Given the description of an element on the screen output the (x, y) to click on. 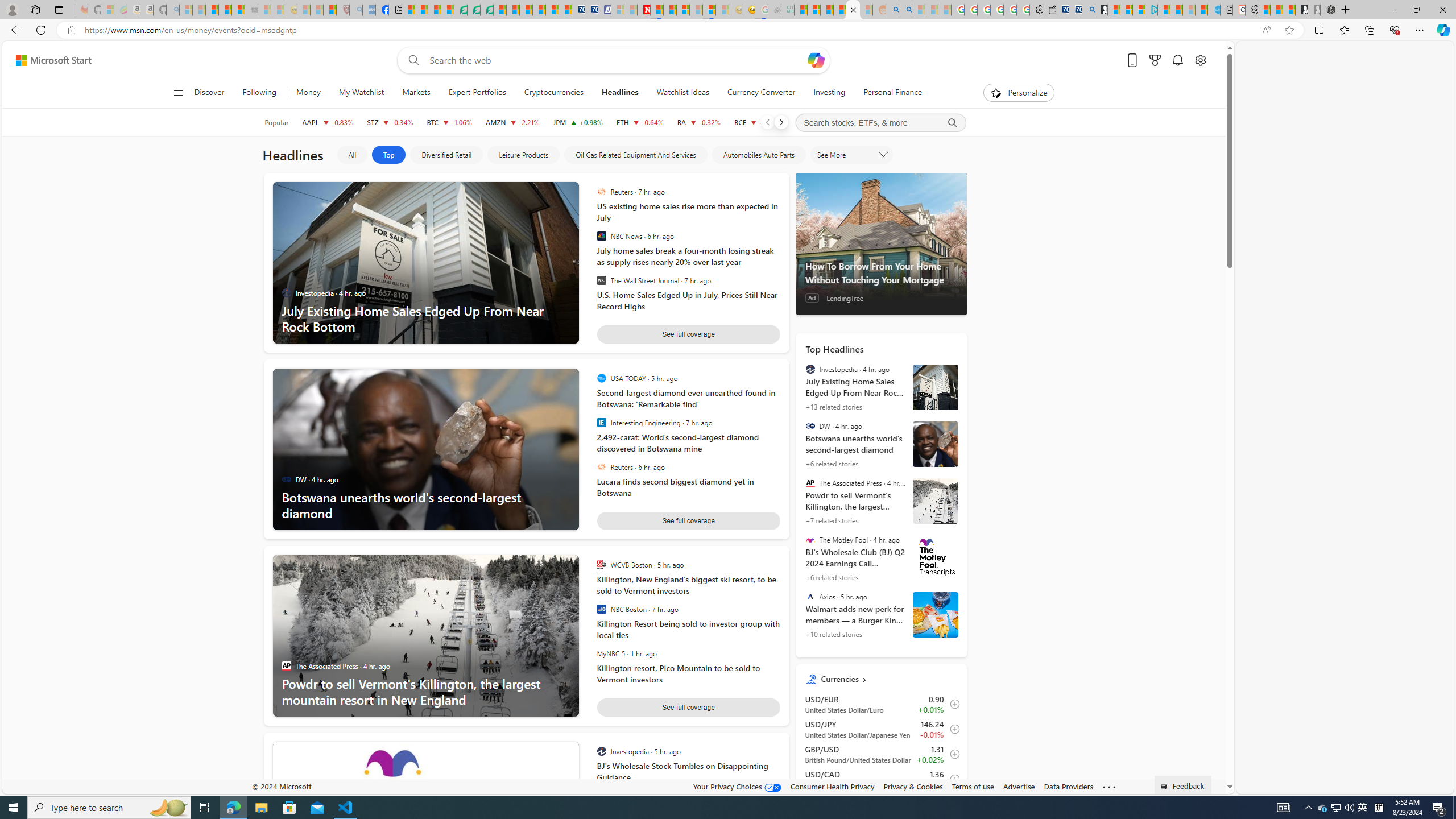
Money (307, 92)
Terms of use (973, 785)
Address and search bar (669, 29)
Following (259, 92)
WCVB Boston (600, 565)
Microsoft account | Privacy - Sleeping (616, 9)
Headlines (620, 92)
Combat Siege (251, 9)
